Given the description of an element on the screen output the (x, y) to click on. 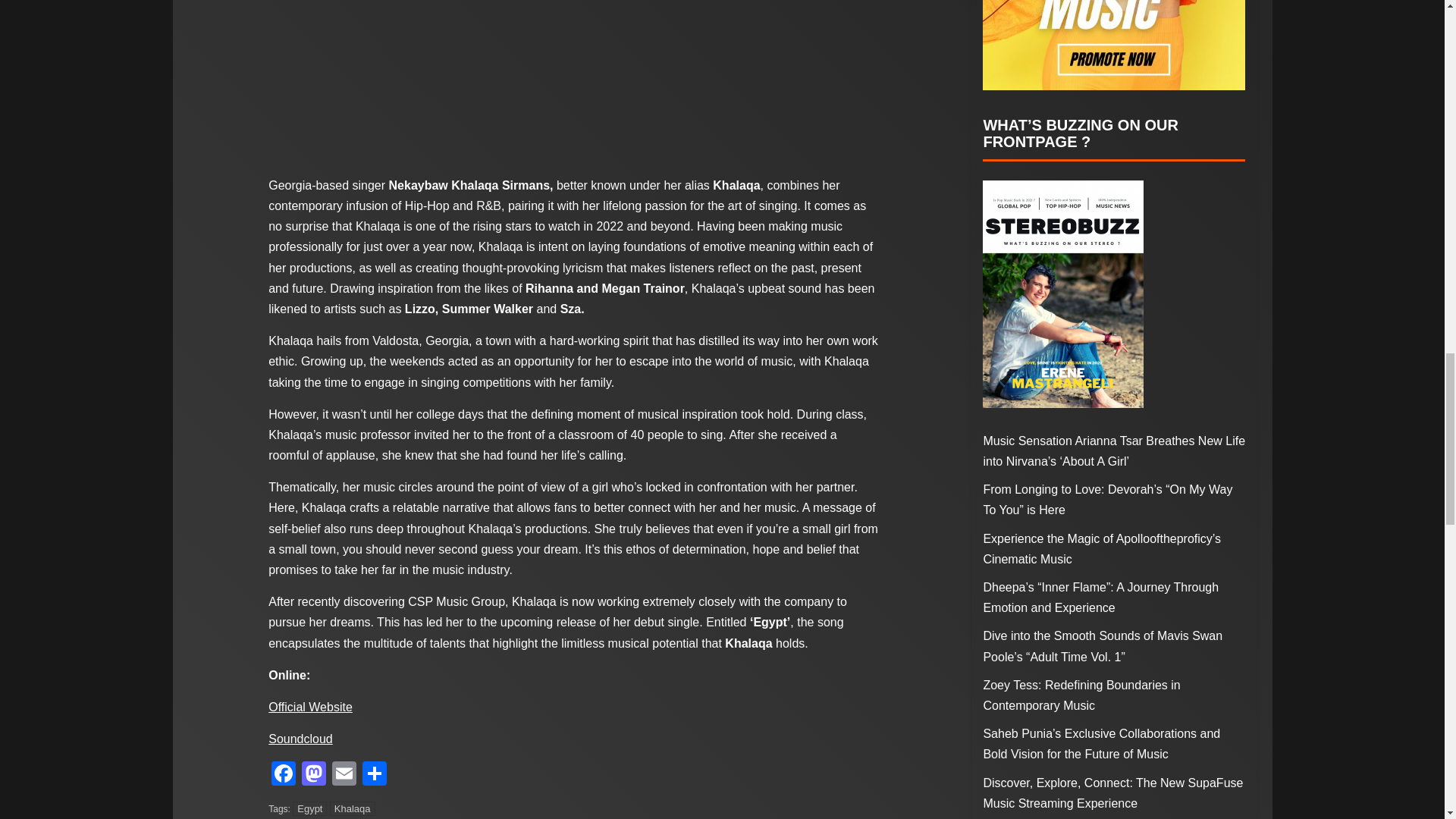
Email (344, 775)
Mastodon (313, 775)
Mastodon (313, 775)
Soundcloud (300, 738)
Egypt (309, 808)
Khalaqa (352, 808)
Facebook (282, 775)
Facebook (282, 775)
Share (374, 775)
Email (344, 775)
Official Website (309, 707)
